Given the description of an element on the screen output the (x, y) to click on. 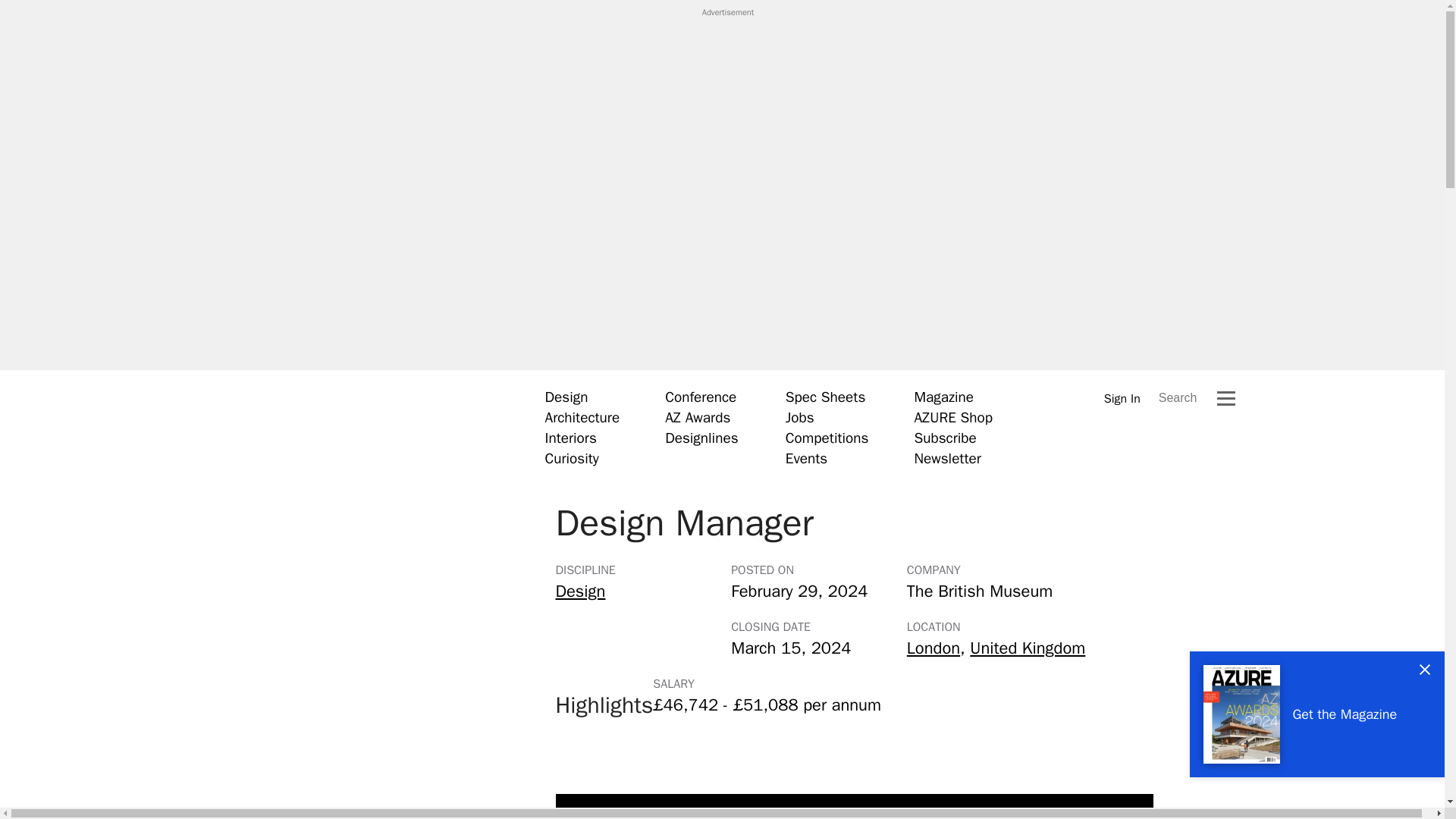
Competitions (827, 438)
Azure Magazine (351, 426)
Designlines (701, 438)
Magazine (944, 397)
Jobs (799, 417)
AZ Awards (697, 417)
Interiors (569, 438)
Search (1178, 397)
Curiosity (571, 458)
Newsletter (946, 458)
